Given the description of an element on the screen output the (x, y) to click on. 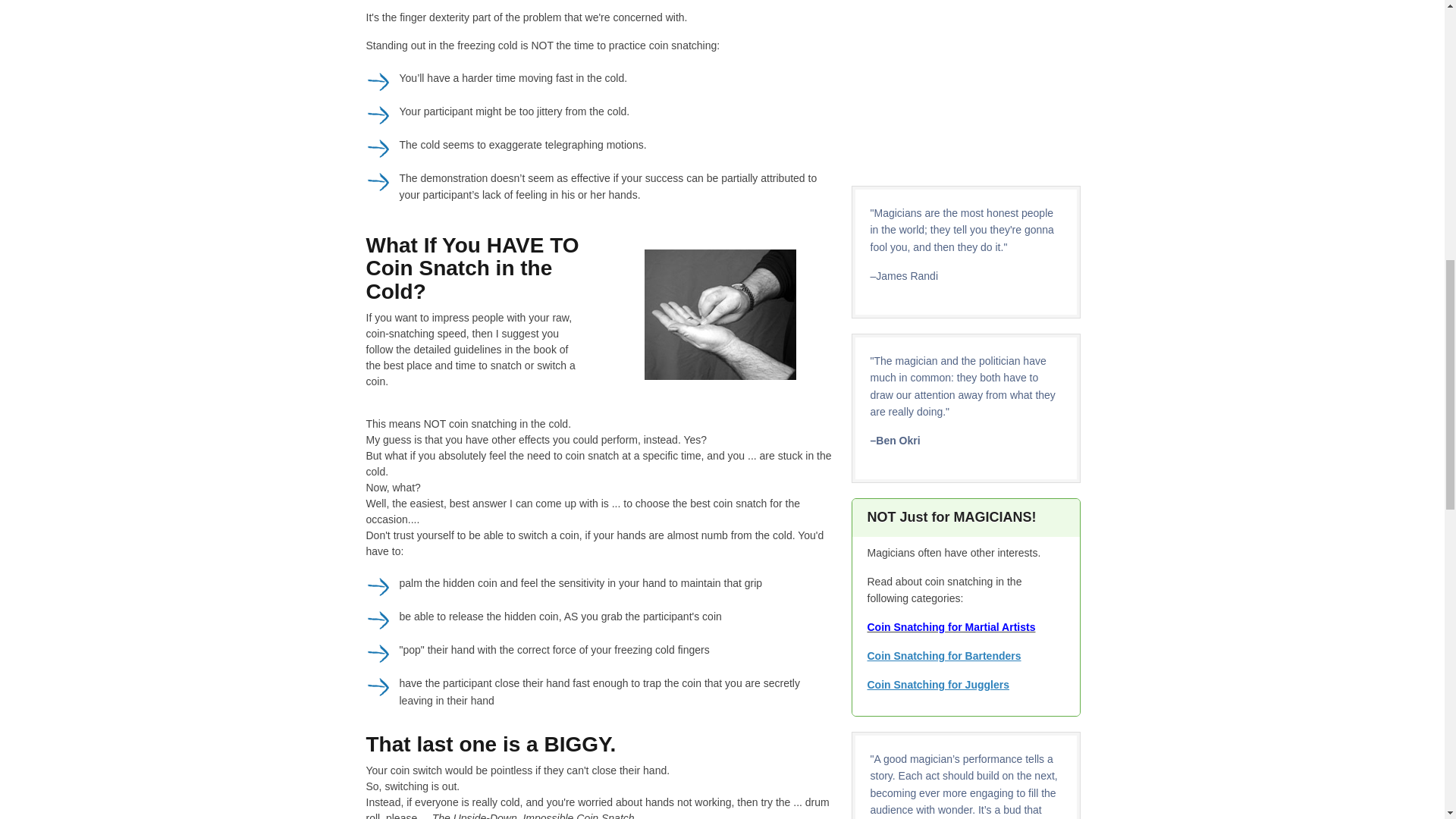
Coin Snatching for Jugglers (938, 684)
Coin Snatching for Martial Artists (951, 626)
Coin Snatching for Bartenders (944, 655)
